Given the description of an element on the screen output the (x, y) to click on. 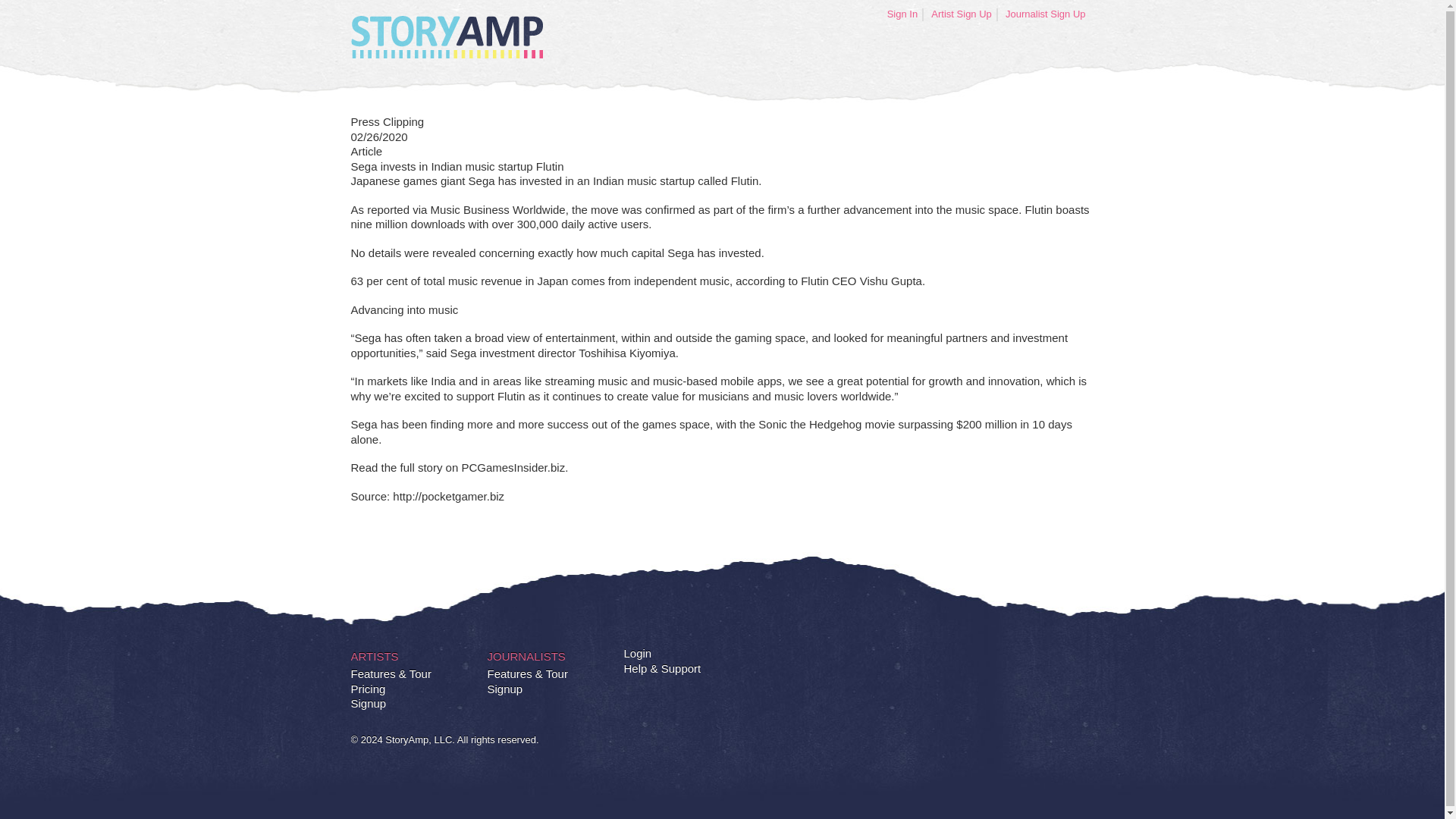
JOURNALISTS (525, 656)
Artist Sign Up (961, 14)
ARTISTS (373, 656)
Signup (504, 688)
Login (636, 653)
Signup (367, 703)
Sign In (902, 14)
Pricing (367, 688)
Journalist Sign Up (1045, 14)
